Given the description of an element on the screen output the (x, y) to click on. 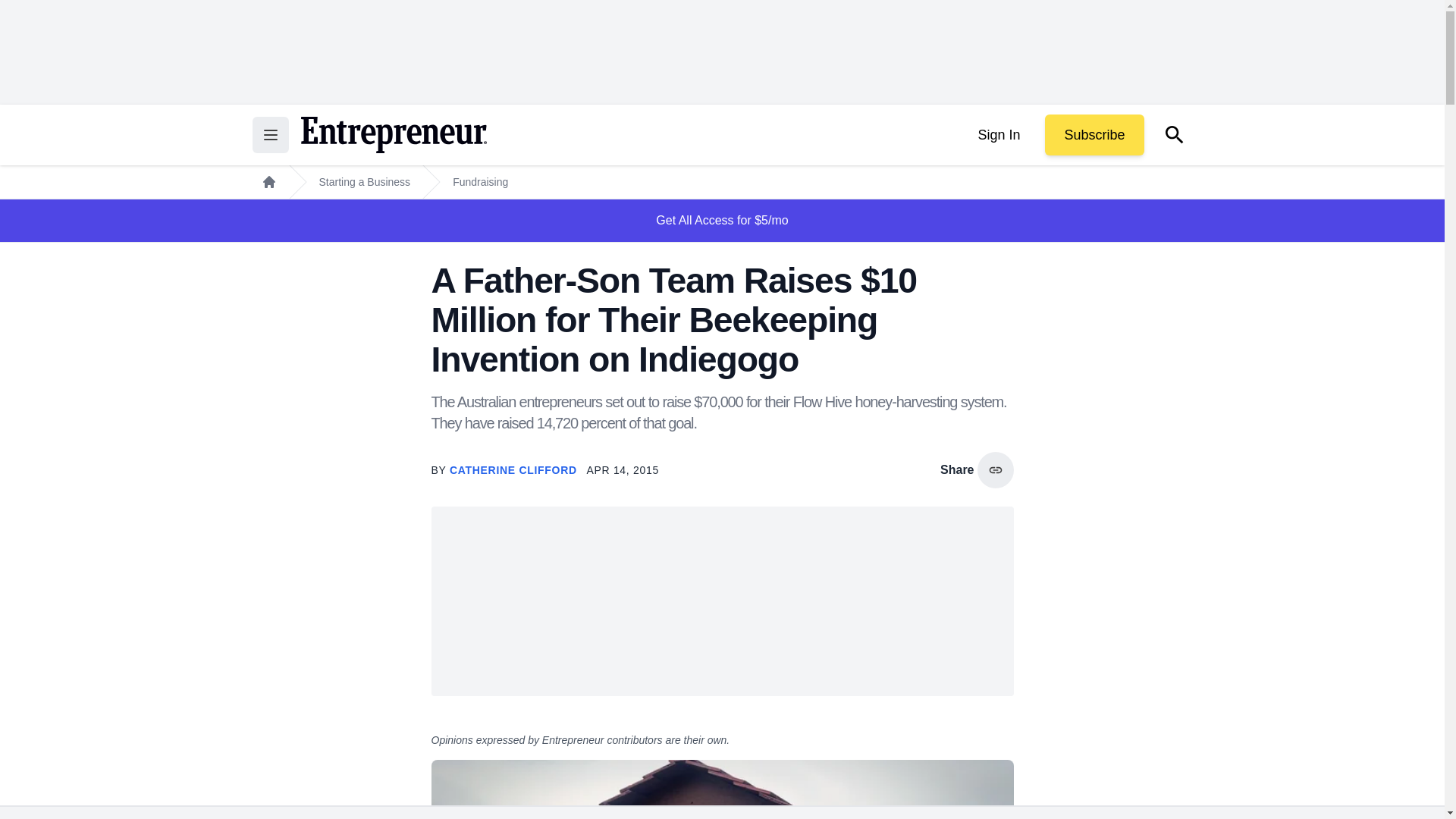
Return to the home page (392, 135)
Sign In (998, 134)
copy (994, 470)
Subscribe (1093, 134)
